Given the description of an element on the screen output the (x, y) to click on. 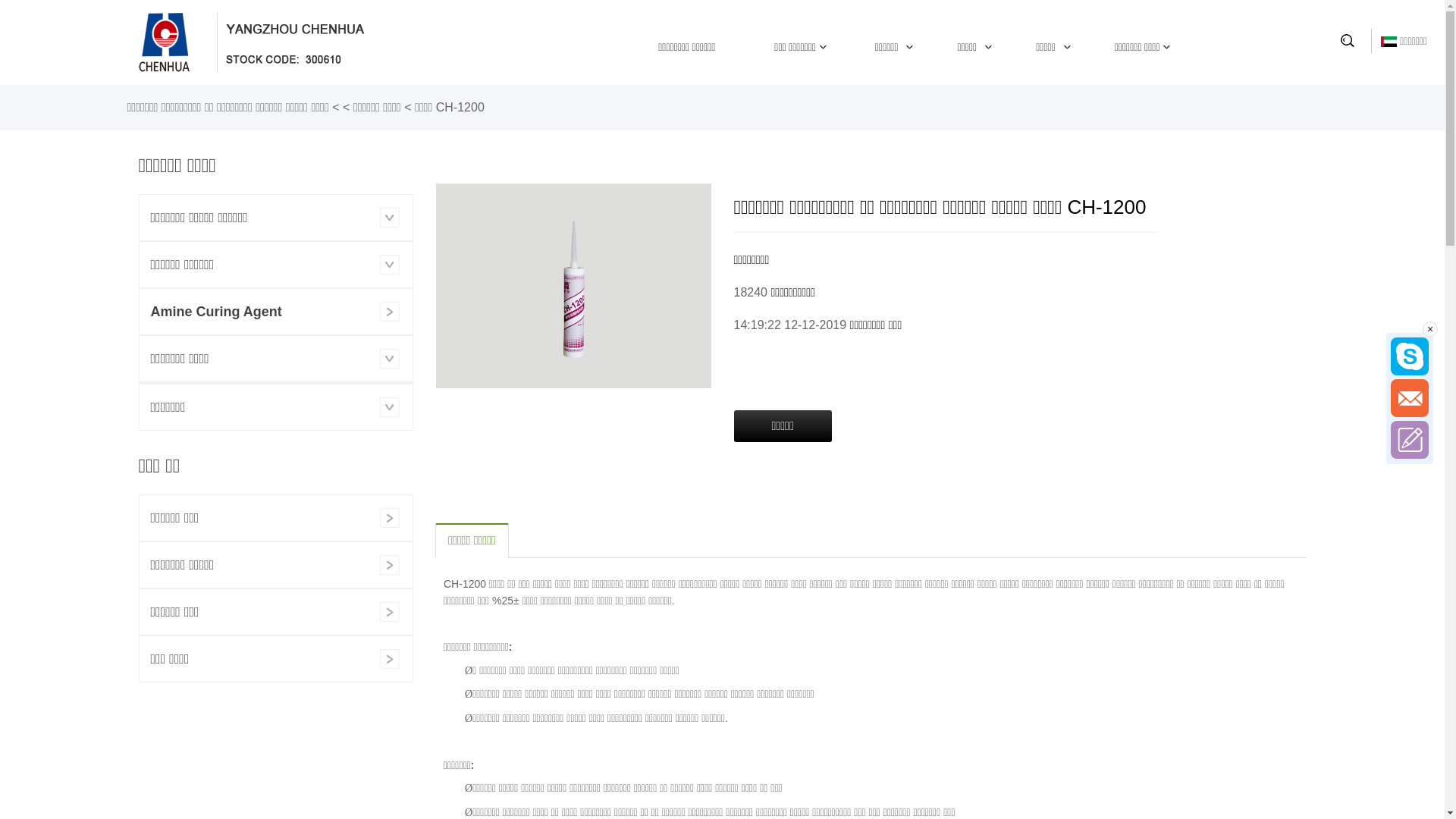
Amine Curing Agent Element type: text (276, 311)
